Given the description of an element on the screen output the (x, y) to click on. 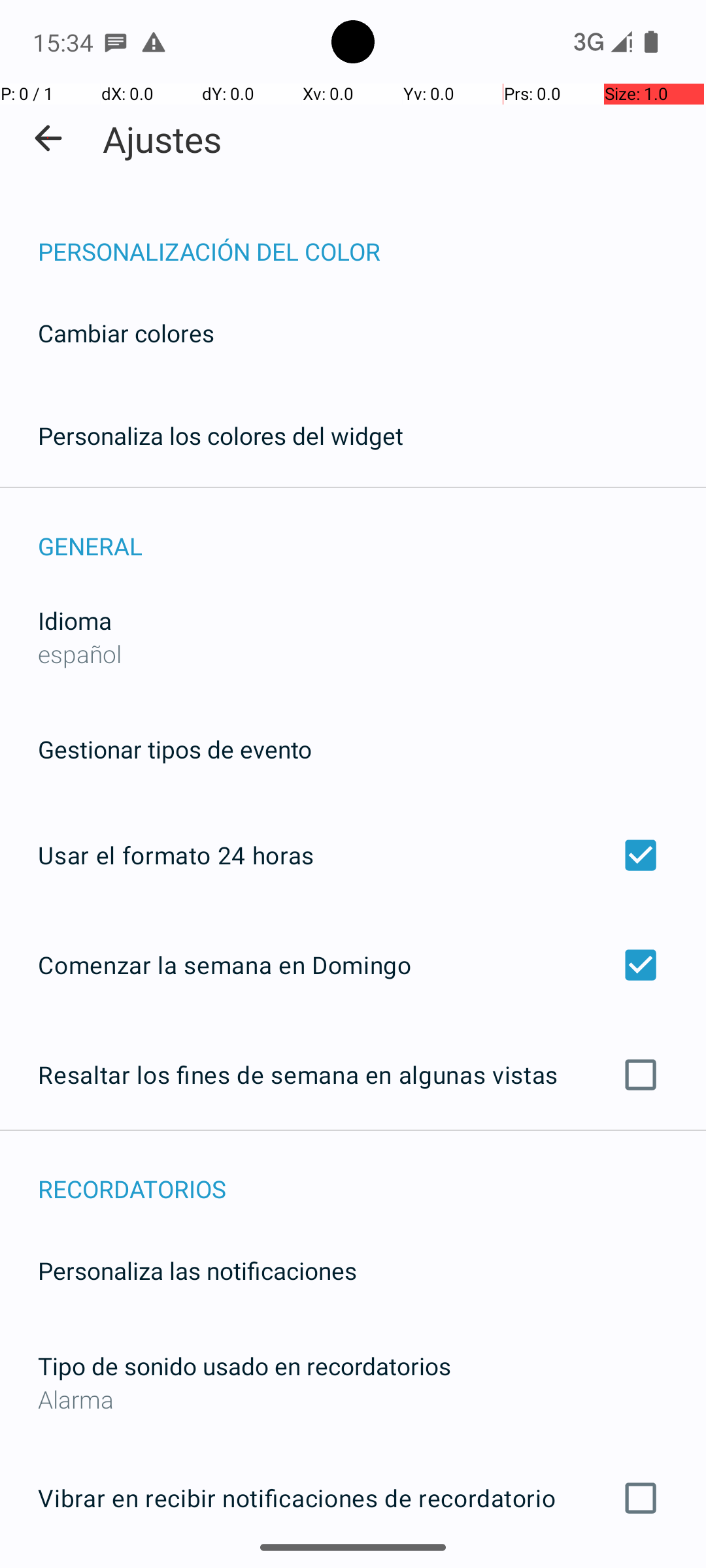
Alarma Element type: android.widget.TextView (352, 1398)
